Given the description of an element on the screen output the (x, y) to click on. 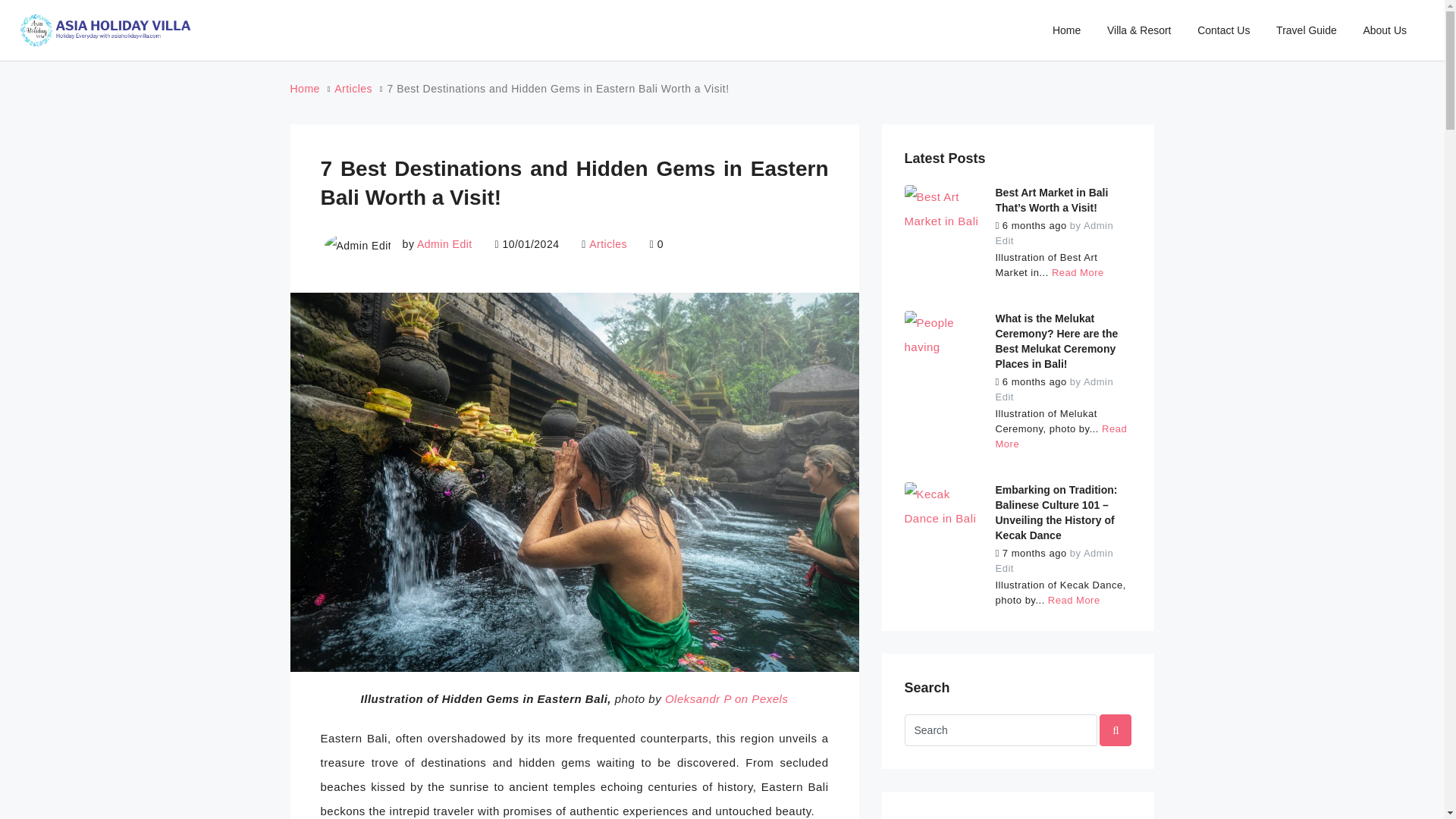
About Us (1384, 30)
Travel Guide (1306, 30)
Contact Us (1223, 30)
